Given the description of an element on the screen output the (x, y) to click on. 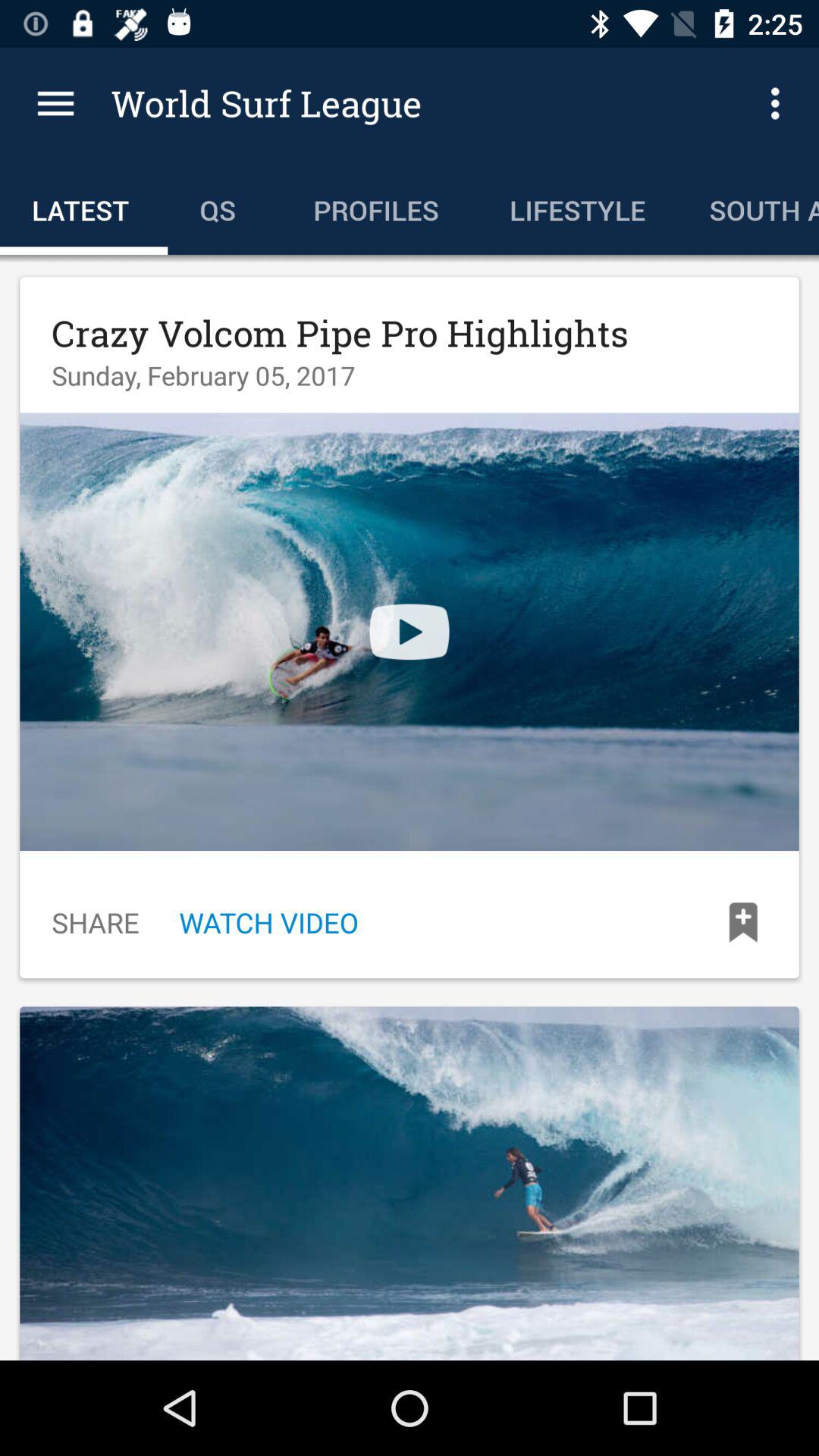
launch sunday february 05 (203, 375)
